Given the description of an element on the screen output the (x, y) to click on. 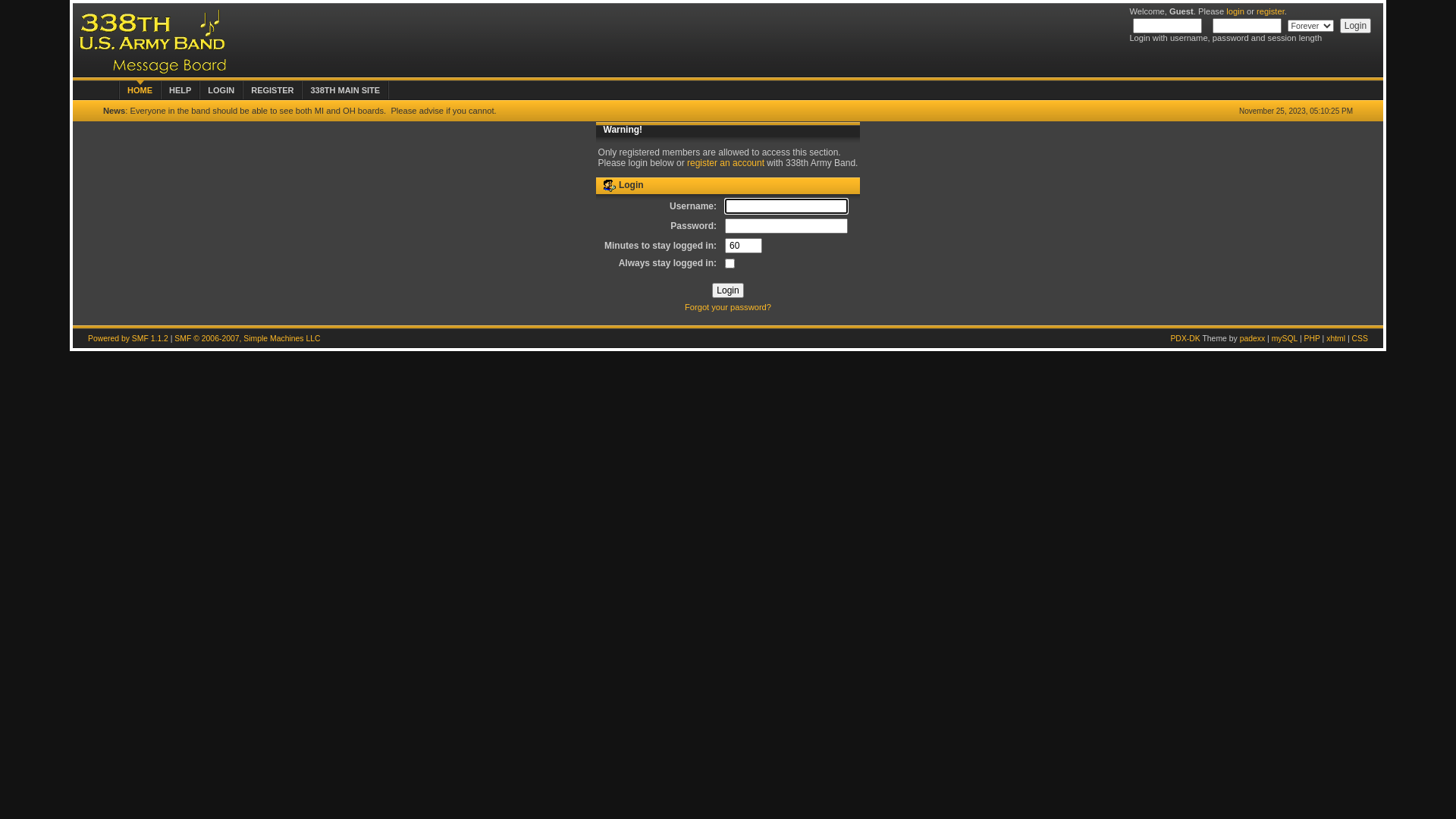
Login Element type: text (1355, 25)
Powered by SMF 1.1.2 Element type: text (127, 338)
PDX-DK Element type: text (1184, 338)
338TH MAIN SITE Element type: text (344, 88)
mySQL Element type: text (1284, 338)
Login Element type: text (727, 290)
LOGIN Element type: text (220, 88)
PHP Element type: text (1312, 338)
REGISTER Element type: text (272, 88)
HELP Element type: text (179, 88)
xhtml Element type: text (1335, 338)
register Element type: text (1270, 10)
register an account Element type: text (725, 162)
login Element type: text (1235, 10)
HOME Element type: text (139, 88)
padexx Element type: text (1252, 338)
CSS Element type: text (1360, 338)
Forgot your password? Element type: text (727, 306)
on Element type: text (729, 263)
